Given the description of an element on the screen output the (x, y) to click on. 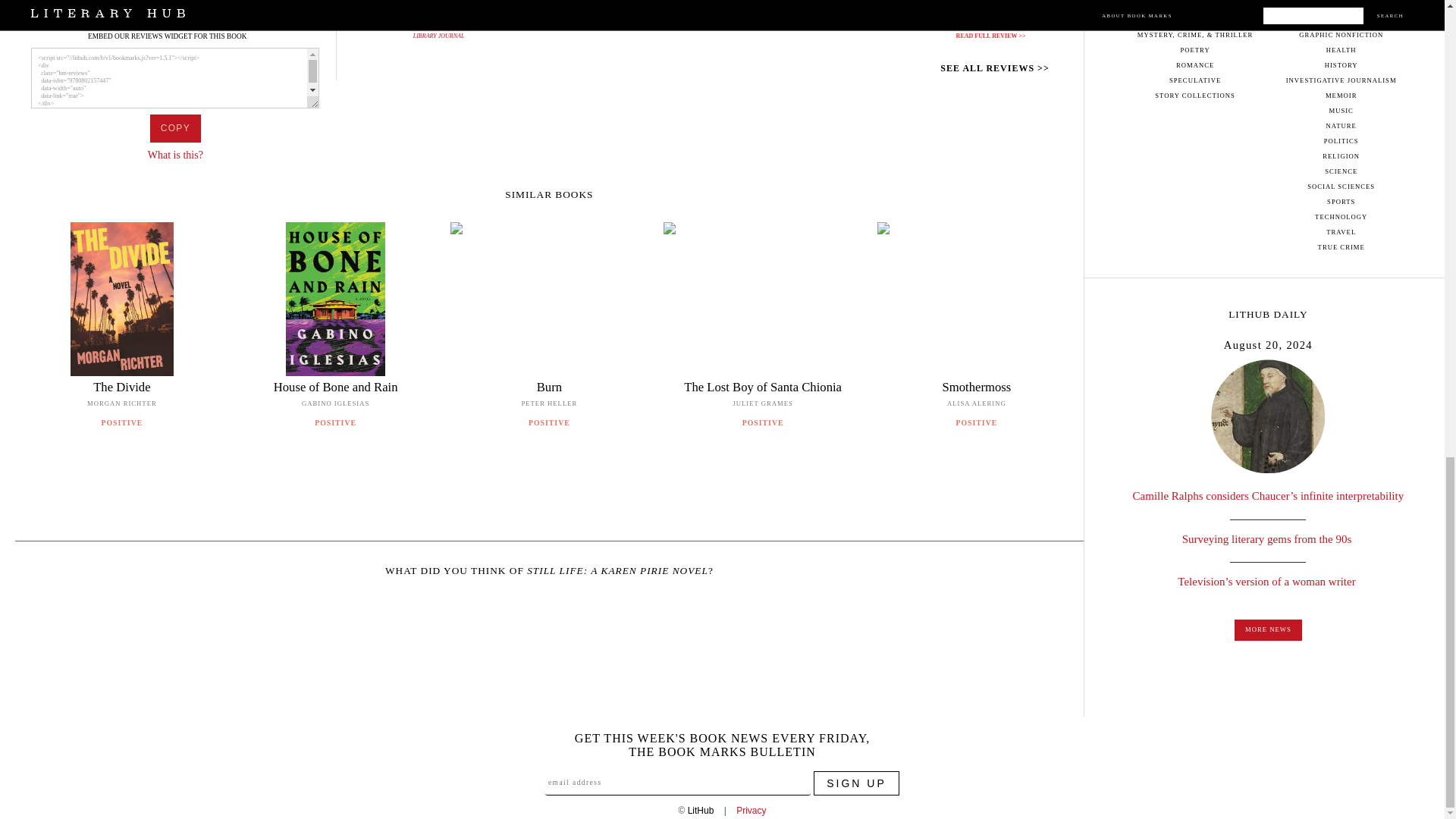
Copy (174, 128)
What is this? (175, 154)
LIBRARY JOURNAL (438, 35)
Sign Up (856, 783)
SUSAN SANTA, (443, 25)
